Given the description of an element on the screen output the (x, y) to click on. 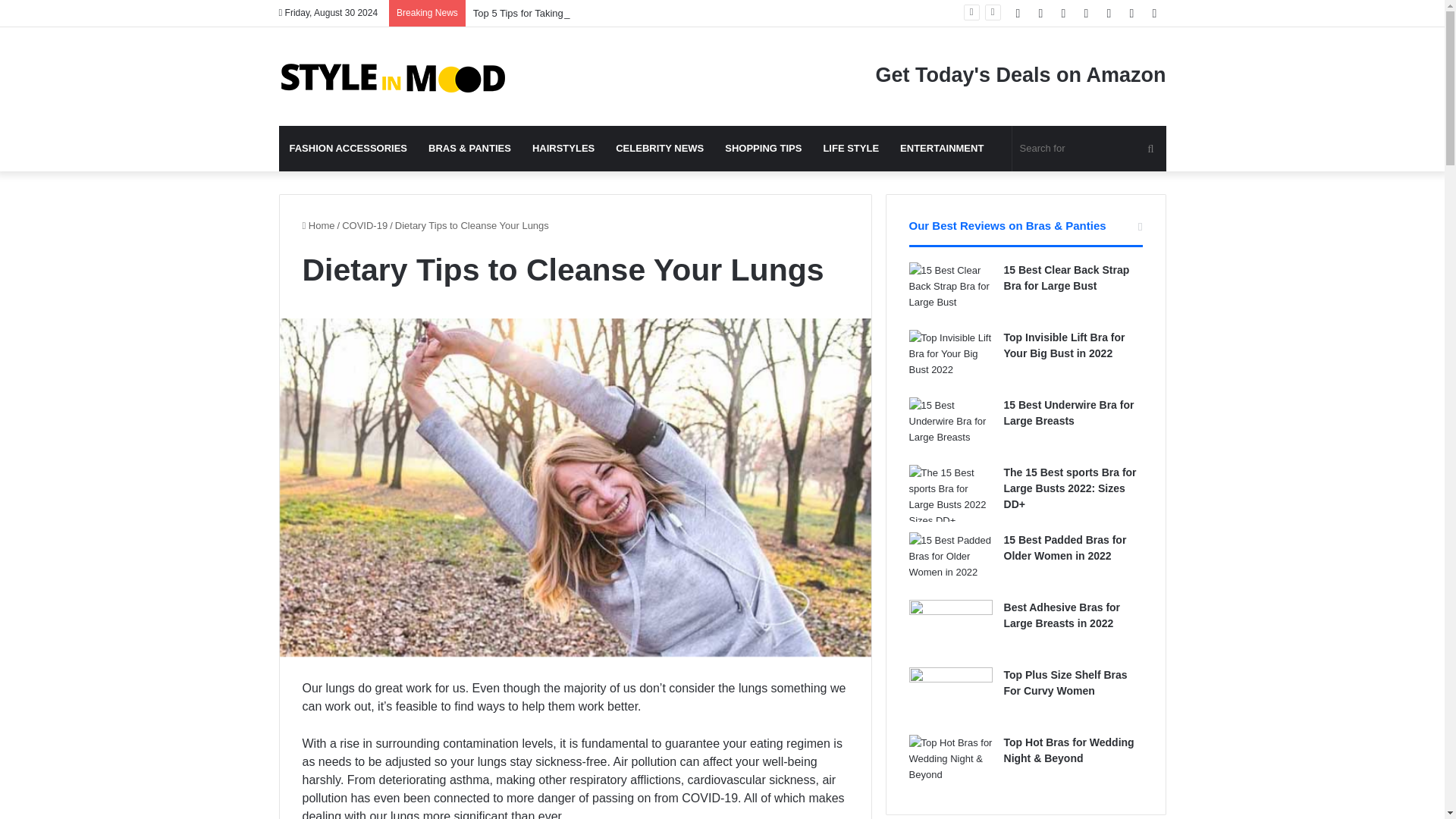
Search for (1088, 148)
Top 5 Tips for Taking Care of Your Chapped or Dried Lips (597, 12)
Get Today's Deals on Amazon (874, 66)
SHOPPING TIPS (763, 148)
LIFE STYLE (850, 148)
Style In Mood! (392, 76)
COVID-19 (364, 225)
HAIRSTYLES (563, 148)
Home (317, 225)
ENTERTAINMENT (941, 148)
